Given the description of an element on the screen output the (x, y) to click on. 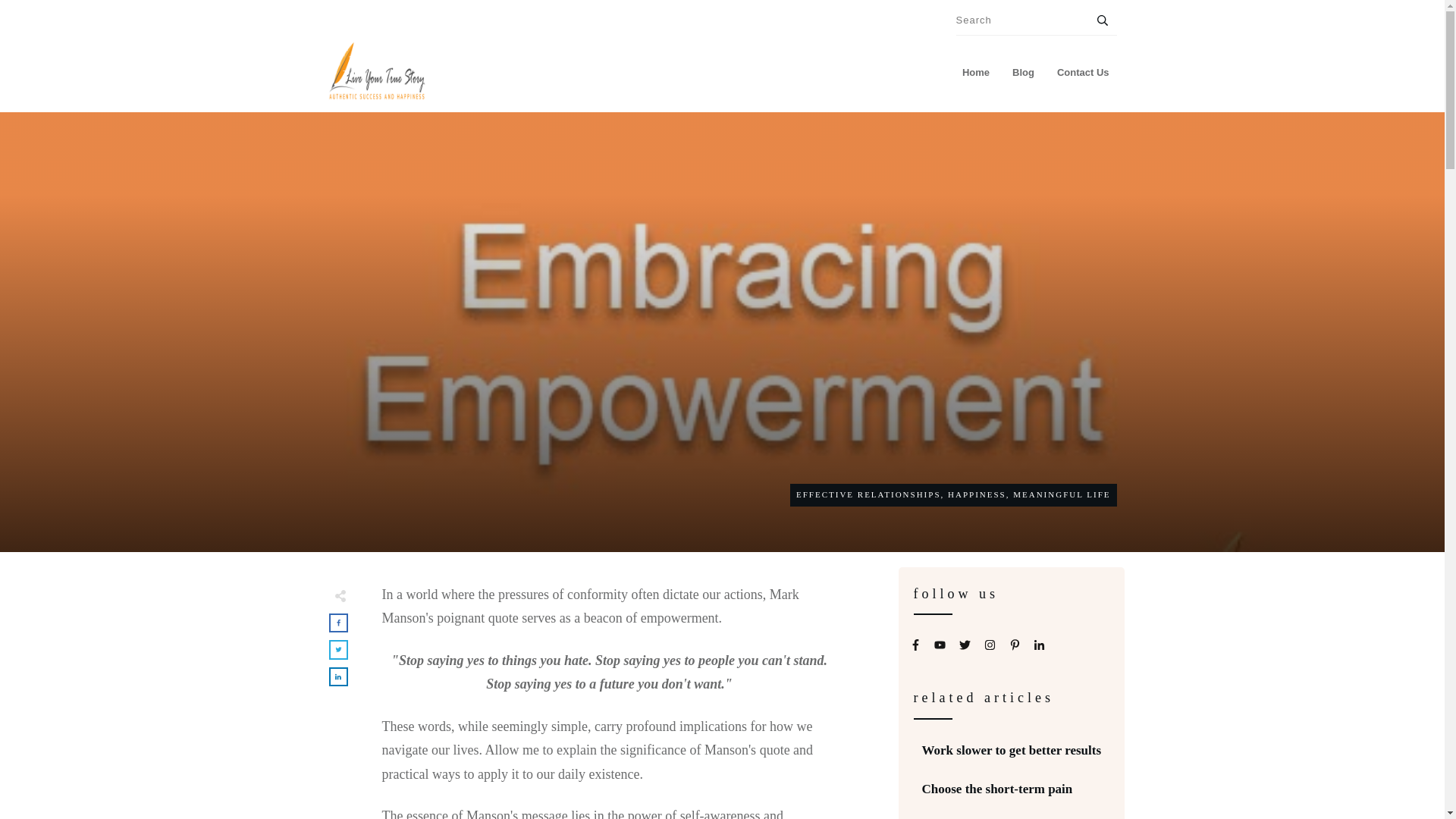
HAPPINESS (976, 493)
Effective Relationships (868, 493)
Work slower to get better results (1011, 749)
Choose the short-term pain (997, 789)
Happiness (976, 493)
Blog (1022, 72)
Meaningful Life (1061, 493)
Work slower to get better results (1011, 749)
Home (976, 72)
EFFECTIVE RELATIONSHIPS (868, 493)
MEANINGFUL LIFE (1061, 493)
Contact Us (1083, 72)
